Given the description of an element on the screen output the (x, y) to click on. 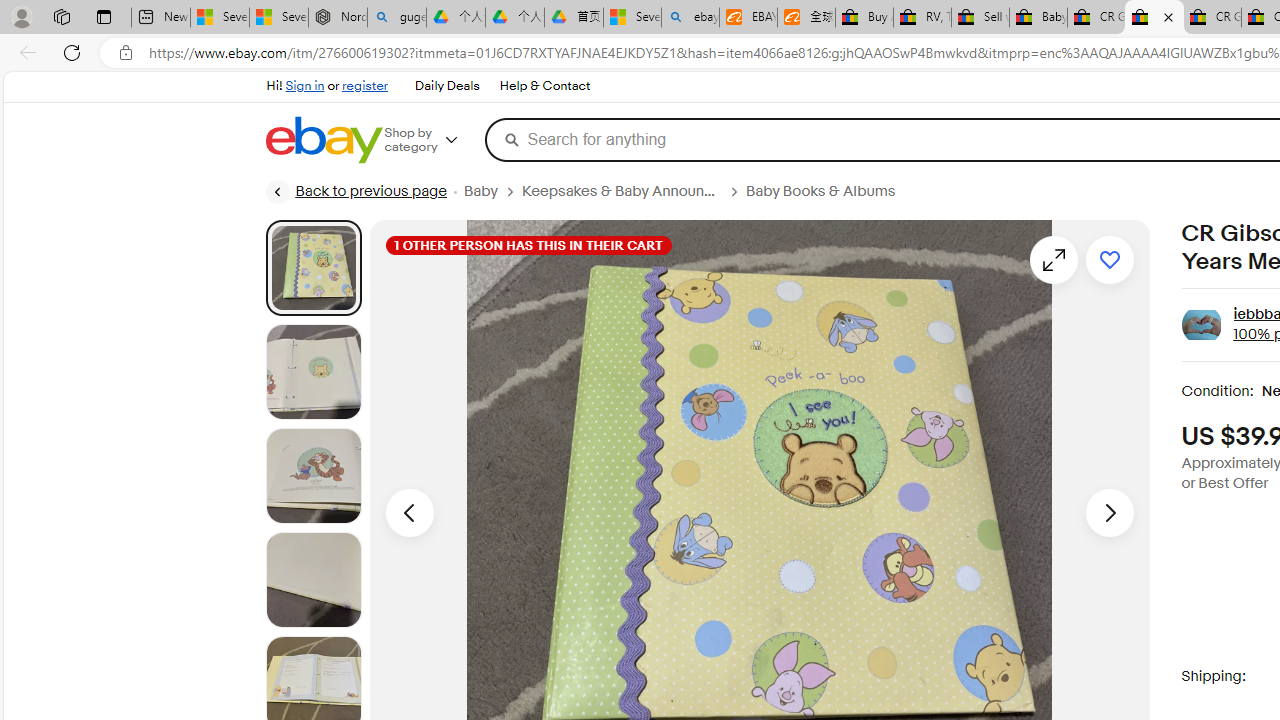
Previous image - Item images thumbnails (409, 512)
Add to watchlist (1109, 259)
Baby Books & Albums (827, 191)
Help & Contact (545, 86)
Shop by category (434, 140)
Class: ux-action (1201, 325)
Sign in (305, 85)
